Given the description of an element on the screen output the (x, y) to click on. 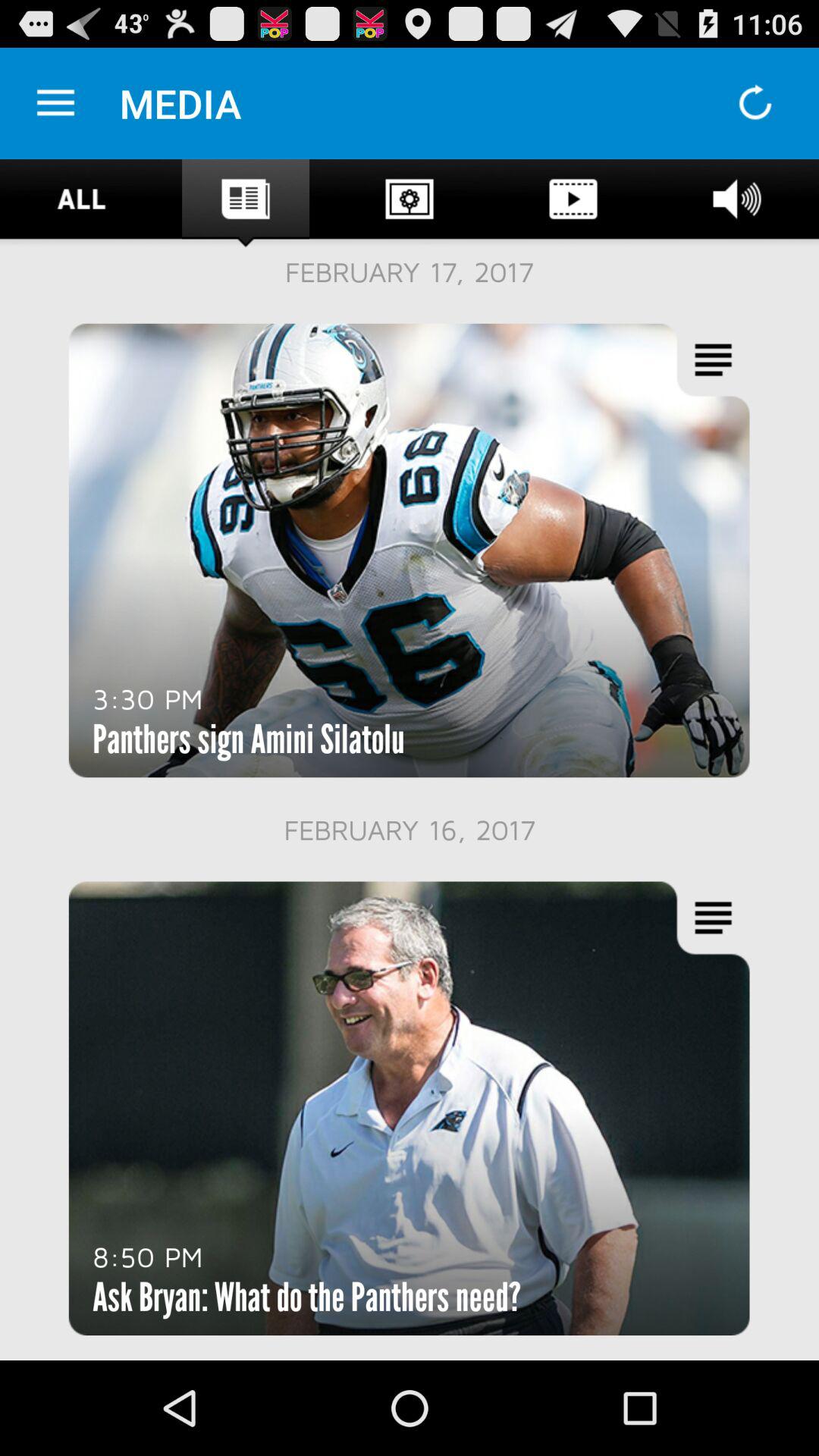
menu button (55, 103)
